Given the description of an element on the screen output the (x, y) to click on. 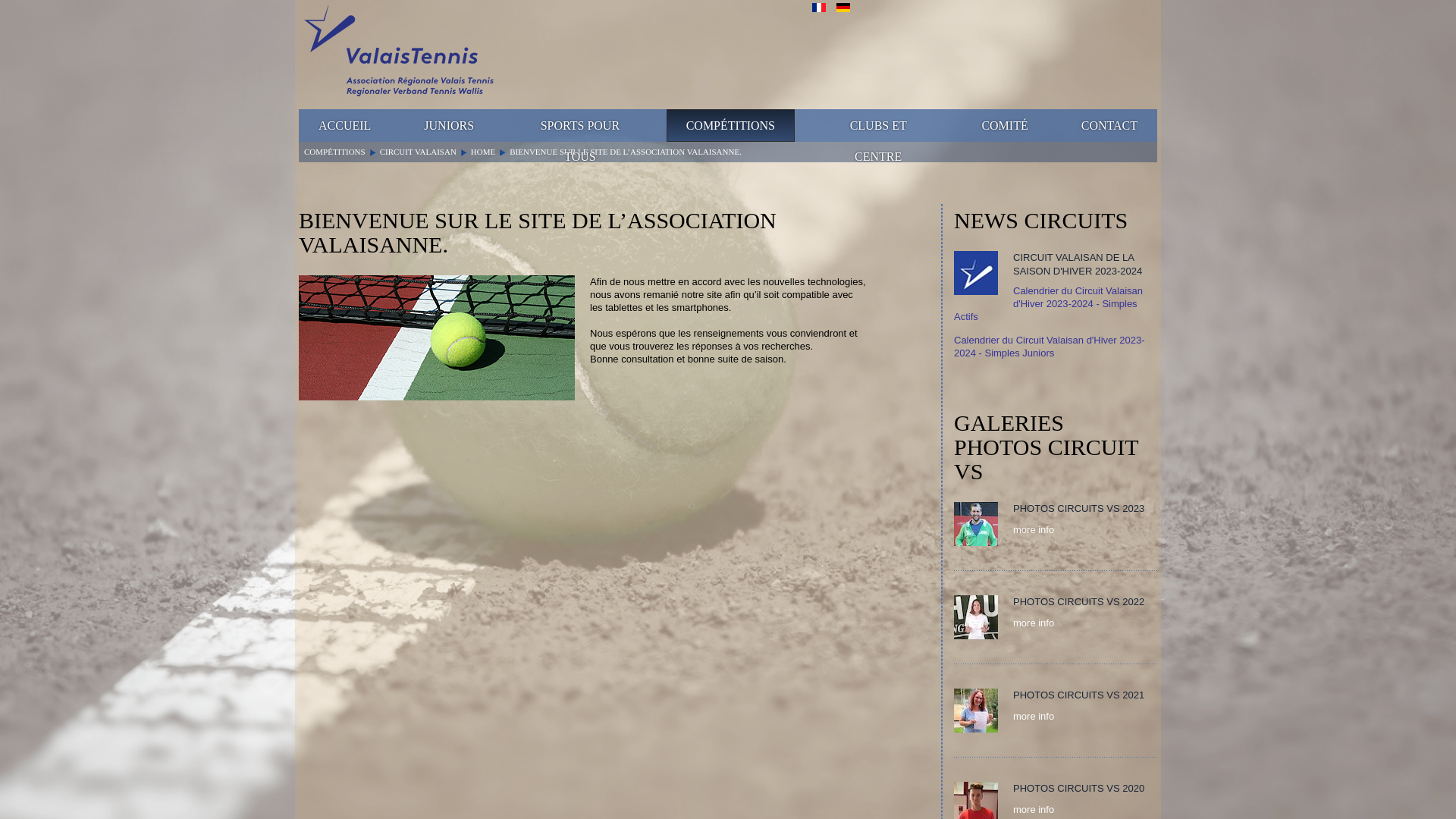
more info Element type: text (1033, 715)
CONTACT Element type: text (1109, 125)
Calendrier du Circuit Valaisan Element type: text (1019, 339)
more info Element type: text (1033, 809)
ACCUEIL Element type: text (344, 125)
JUNIORS Element type: text (448, 125)
more info Element type: text (1033, 529)
SPORTS POUR TOUS Element type: text (579, 125)
CIRCUIT VALAISAN Element type: text (417, 151)
- Simples Juniors Element type: text (1014, 352)
German (CH) Element type: hover (843, 7)
more info Element type: text (1033, 622)
CLUBS ET CENTRE Element type: text (877, 125)
d'Hiver 2023-2024 Element type: text (1049, 346)
HOME Element type: text (482, 151)
